Given the description of an element on the screen output the (x, y) to click on. 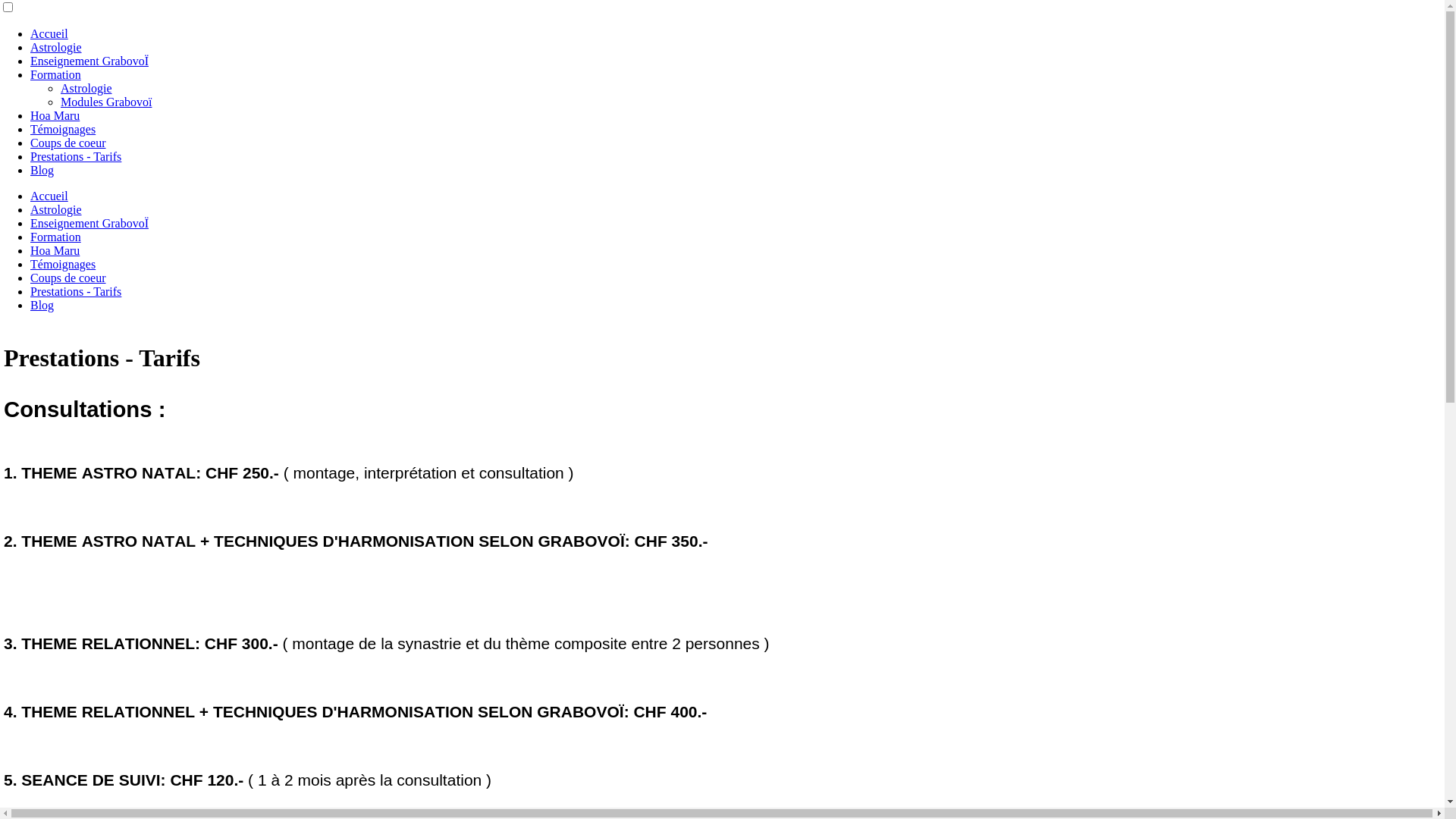
Accueil Element type: text (49, 33)
Formation Element type: text (55, 236)
Blog Element type: text (41, 169)
Coups de coeur Element type: text (68, 277)
Prestations - Tarifs Element type: text (75, 291)
Formation Element type: text (55, 74)
Coups de coeur Element type: text (68, 142)
Prestations - Tarifs Element type: text (75, 156)
Astrologie Element type: text (86, 87)
Blog Element type: text (41, 304)
Accueil Element type: text (49, 195)
Astrologie Element type: text (55, 46)
Hoa Maru Element type: text (54, 250)
Hoa Maru Element type: text (54, 115)
Astrologie Element type: text (55, 209)
